Given the description of an element on the screen output the (x, y) to click on. 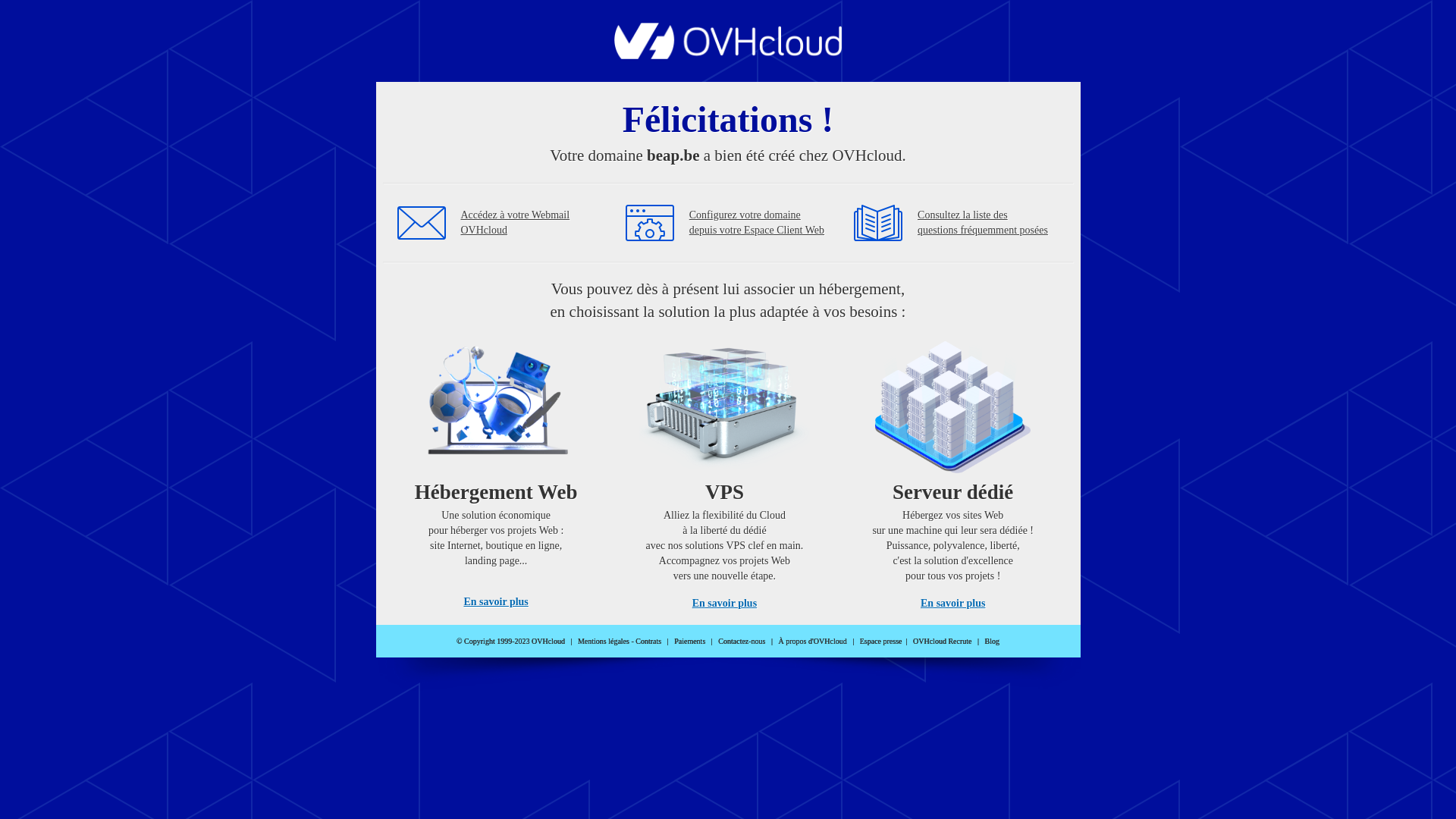
En savoir plus Element type: text (952, 602)
OVHcloud Recrute Element type: text (942, 641)
Contactez-nous Element type: text (741, 641)
OVHcloud Element type: hover (727, 54)
Paiements Element type: text (689, 641)
En savoir plus Element type: text (724, 602)
Blog Element type: text (992, 641)
En savoir plus Element type: text (495, 601)
VPS Element type: hover (724, 469)
Espace presse Element type: text (880, 641)
Configurez votre domaine
depuis votre Espace Client Web Element type: text (756, 222)
